Given the description of an element on the screen output the (x, y) to click on. 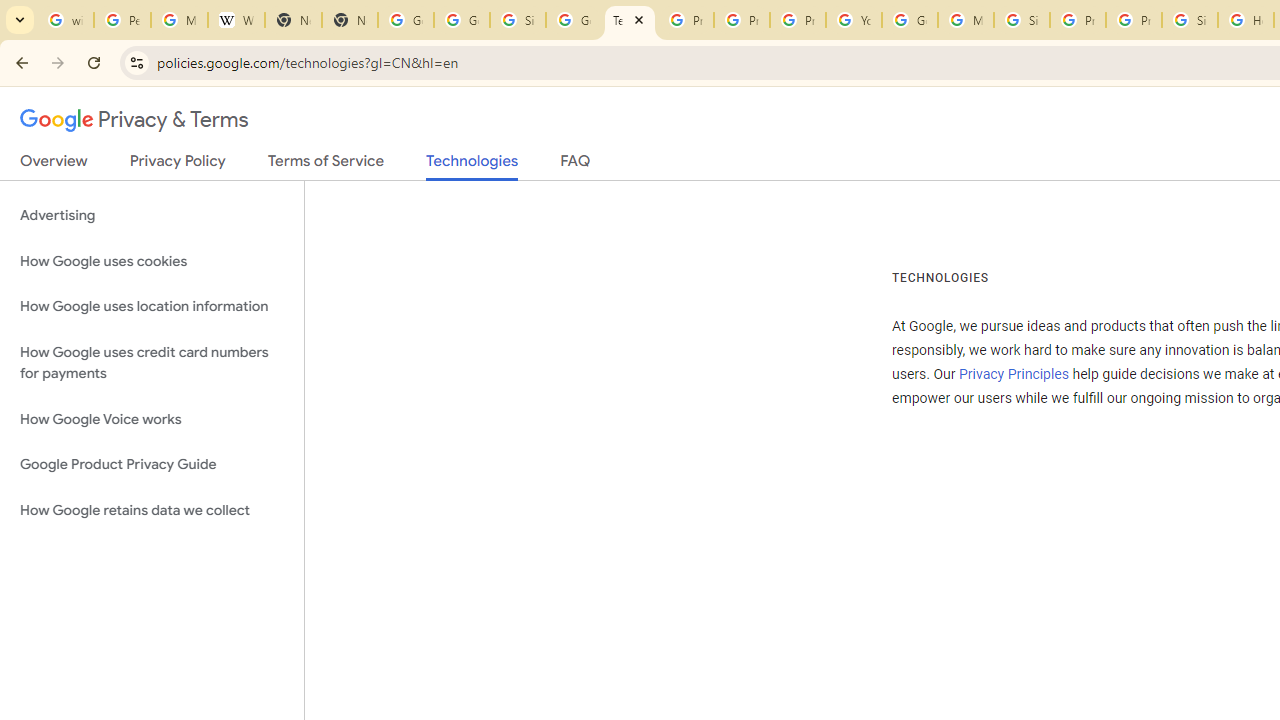
Sign in - Google Accounts (1190, 20)
How Google Voice works (152, 419)
How Google uses location information (152, 306)
Privacy Principles (1013, 374)
YouTube (853, 20)
How Google uses credit card numbers for payments (152, 362)
Personalization & Google Search results - Google Search Help (122, 20)
Manage your Location History - Google Search Help (179, 20)
Sign in - Google Accounts (1021, 20)
